Given the description of an element on the screen output the (x, y) to click on. 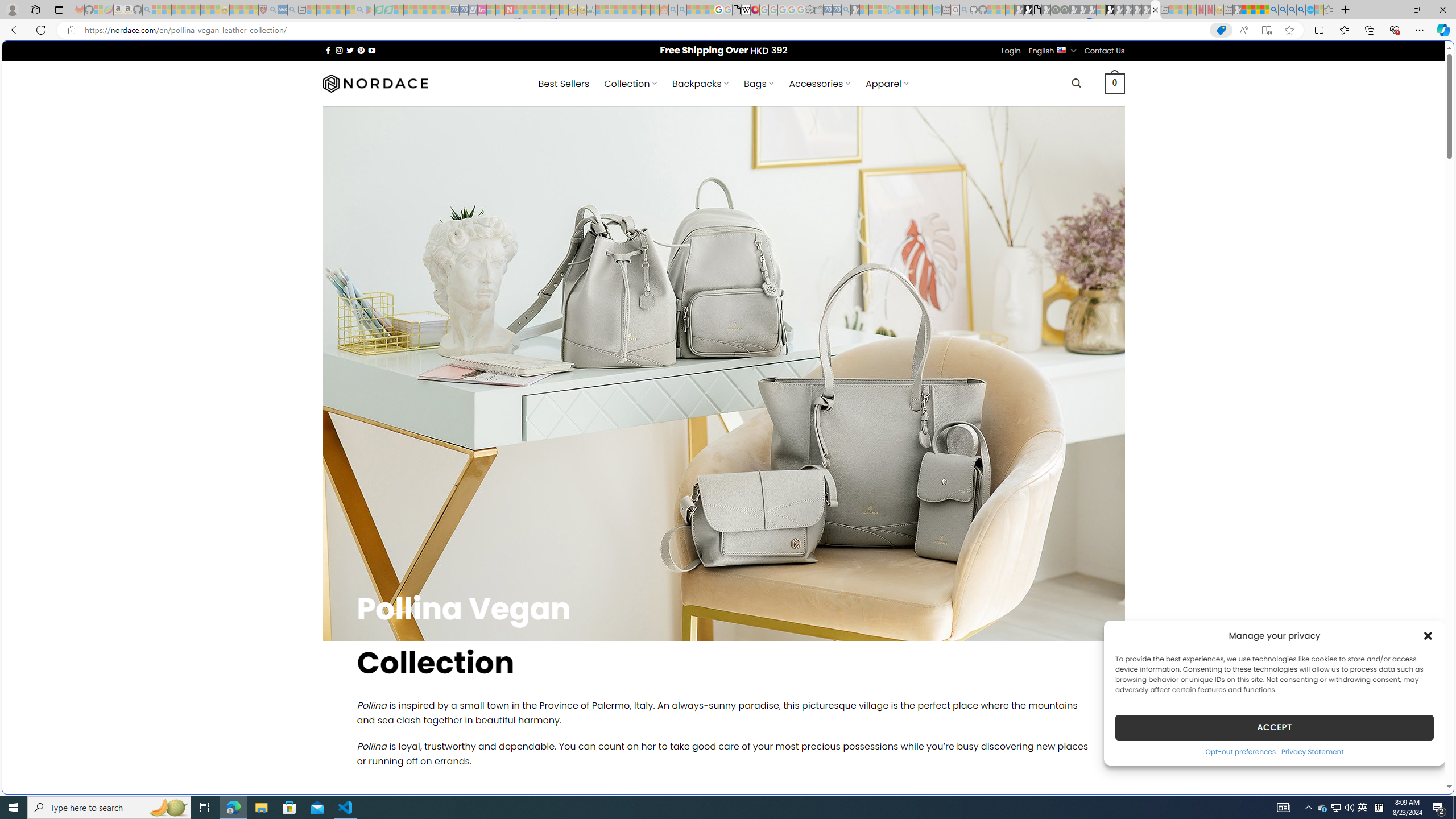
google_privacy_policy_zh-CN.pdf (736, 9)
Recipes - MSN - Sleeping (234, 9)
Follow on Pinterest (360, 49)
Sign in to your account - Sleeping (1100, 9)
Follow on Twitter (349, 49)
Terms of Use Agreement - Sleeping (378, 9)
Follow on Facebook (327, 49)
